Given the description of an element on the screen output the (x, y) to click on. 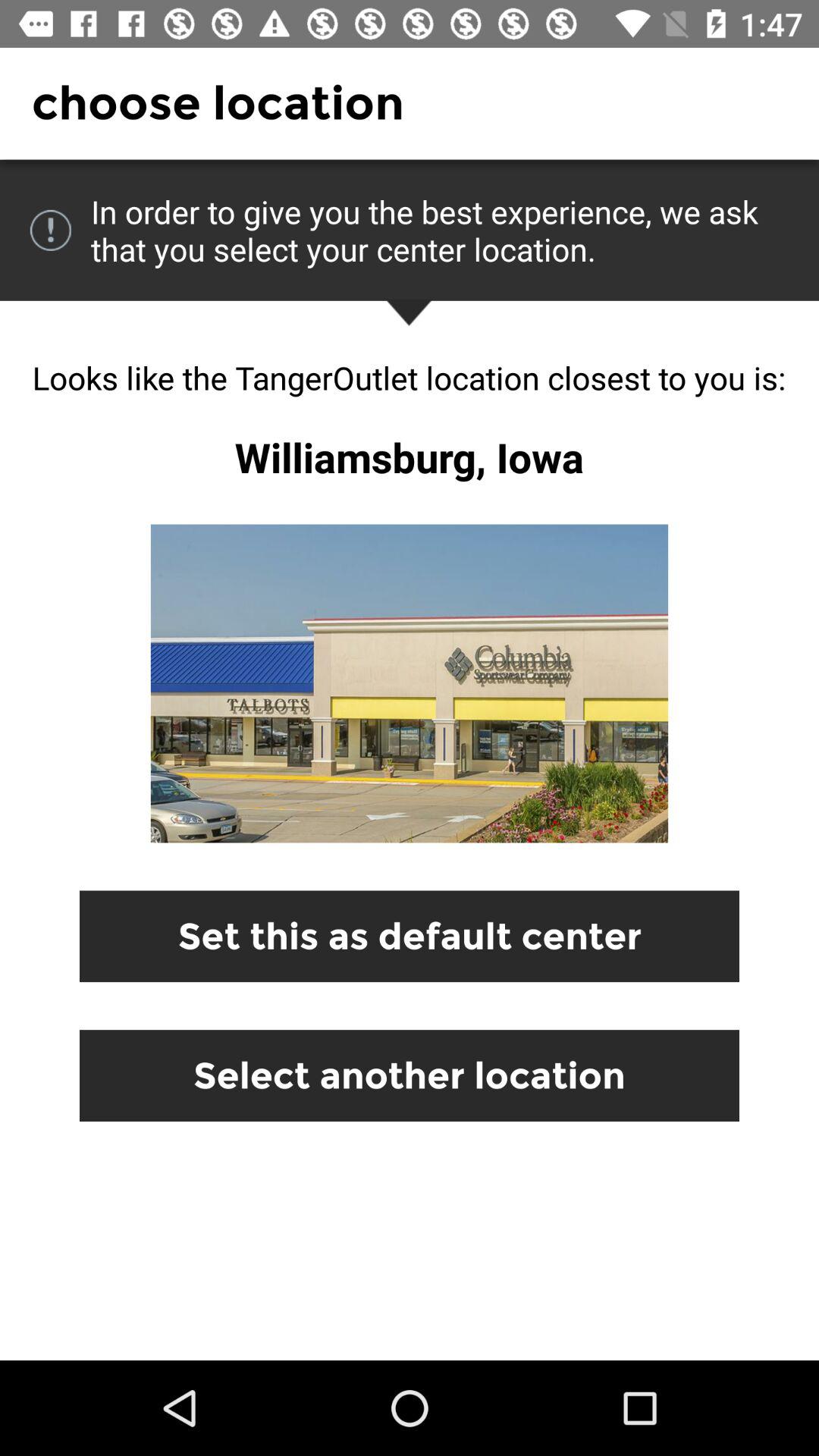
select the set this as item (409, 936)
